Given the description of an element on the screen output the (x, y) to click on. 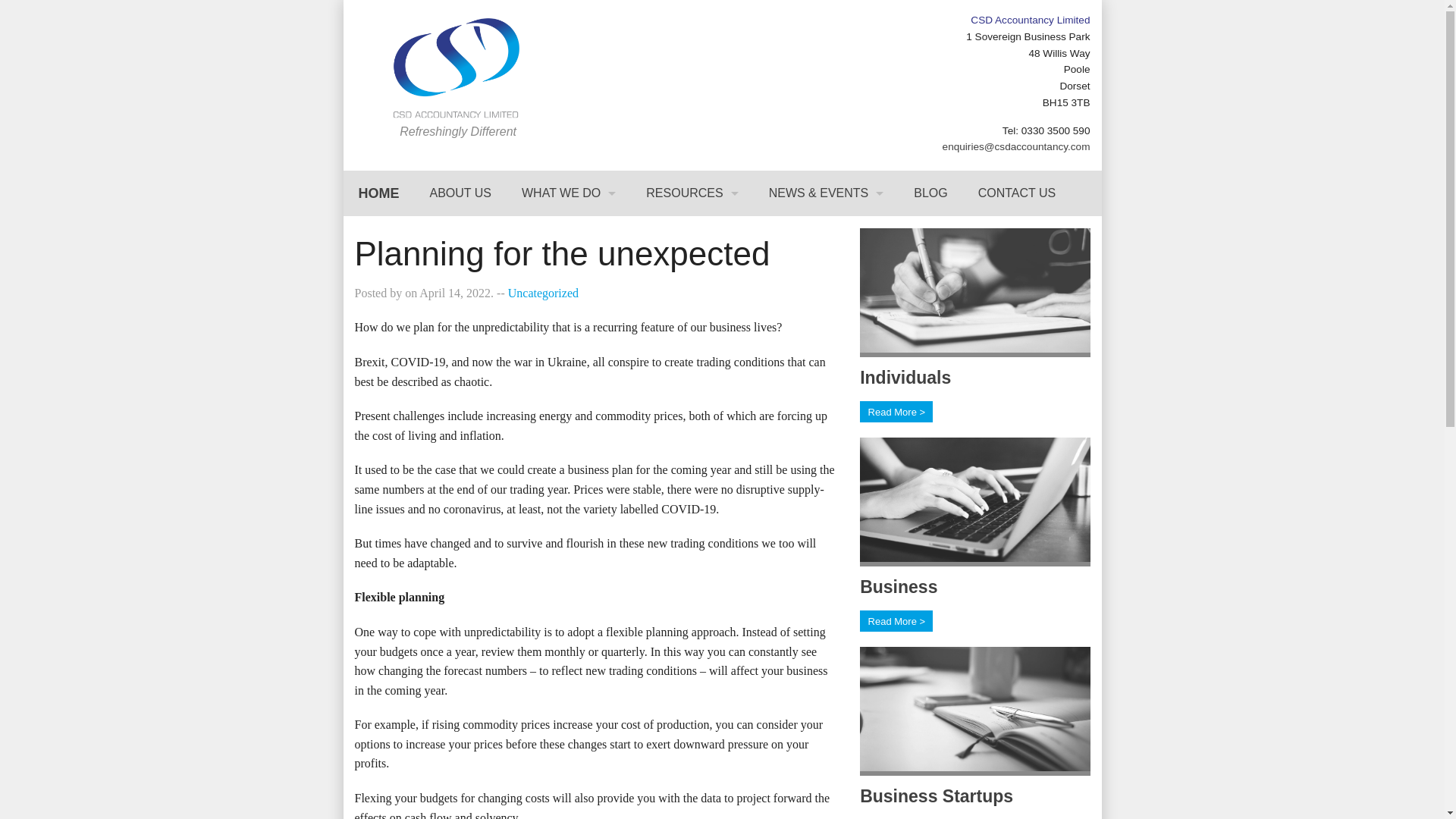
BLOG (930, 193)
RESOURCES (691, 193)
Business Startups (936, 795)
WHAT WE DO (568, 193)
ABOUT US (459, 193)
CONTACT US (1016, 193)
HOME (377, 193)
Business (898, 587)
Individuals (905, 377)
Uncategorized (543, 292)
